Given the description of an element on the screen output the (x, y) to click on. 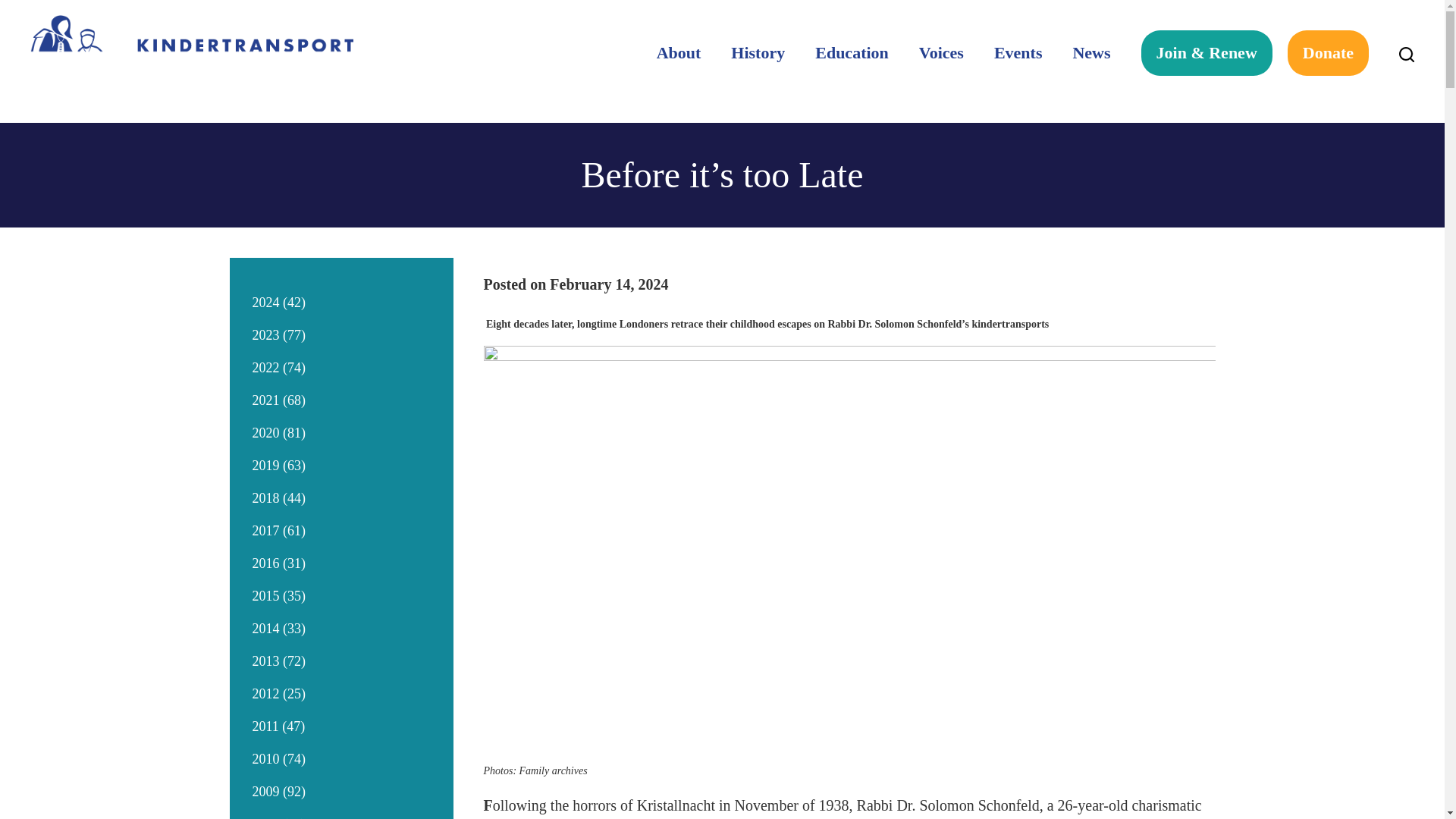
History (757, 53)
2024 (265, 302)
2023 (265, 335)
Education (851, 53)
2022 (265, 367)
Events (1018, 53)
Voices (941, 53)
About (679, 53)
History (757, 53)
Return to the homepage (191, 61)
